Given the description of an element on the screen output the (x, y) to click on. 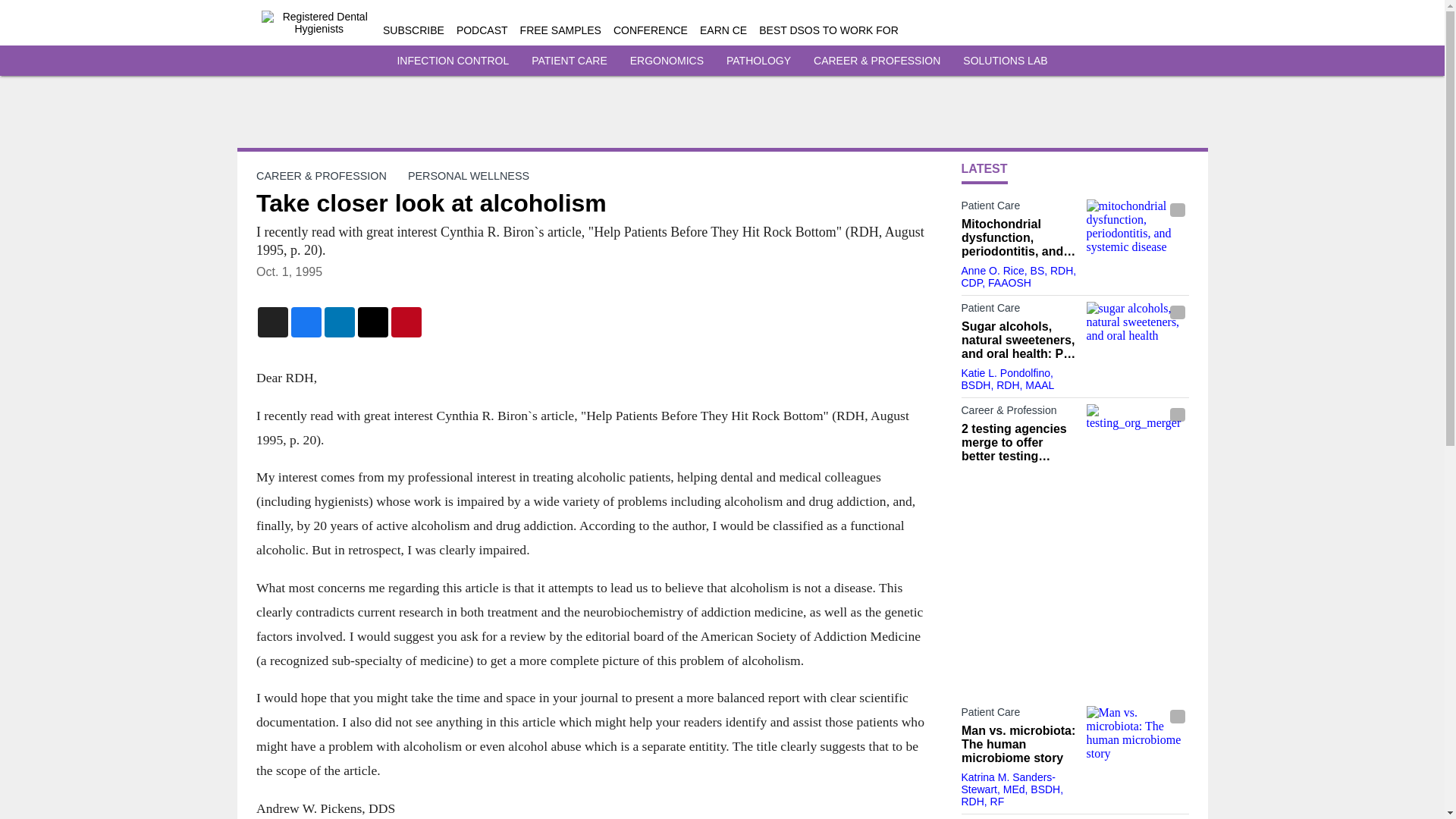
Katrina M. Sanders-Stewart, MEd, BSDH, RDH, RF (1012, 789)
Anne O. Rice, BS, RDH, CDP, FAAOSH (1018, 276)
2 testing agencies merge to offer better testing experience (1019, 442)
Man vs. microbiota: The human microbiome story (1137, 733)
Patient Care (1019, 714)
SUBSCRIBE (413, 30)
PATIENT CARE (569, 60)
PODCAST (482, 30)
